Given the description of an element on the screen output the (x, y) to click on. 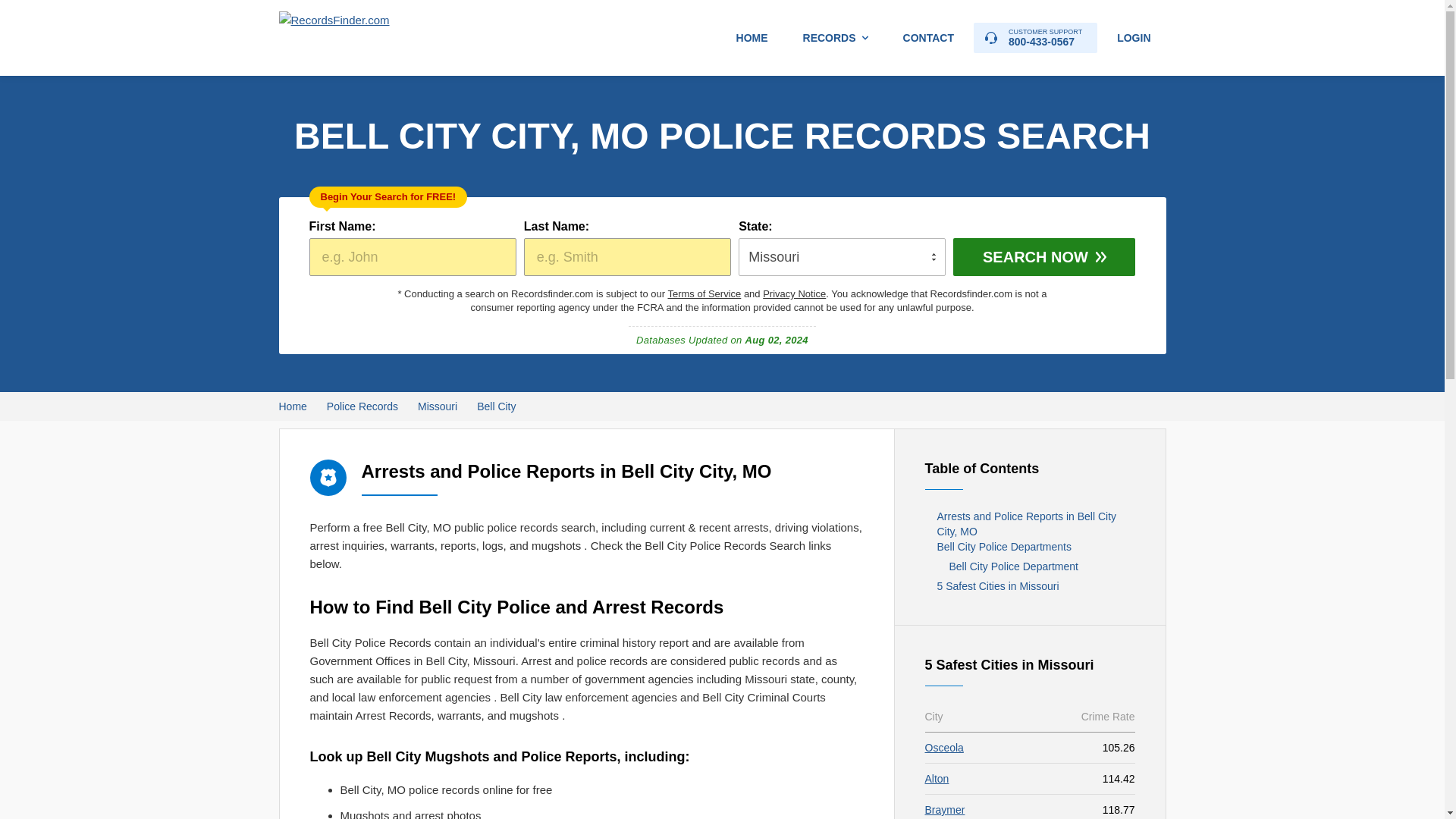
RECORDS (835, 37)
Privacy Notice (793, 293)
Osceola (943, 747)
Home (293, 406)
SEARCH NOW (1044, 257)
CONTACT (928, 37)
HOME (751, 37)
5 Safest Cities in Missouri (1029, 585)
Arrests and Police Reports in Bell City City, MO (1029, 523)
Missouri (437, 406)
Bell City Police Departments (1029, 546)
Alton (1035, 37)
Bell City (936, 778)
LOGIN (496, 406)
